Given the description of an element on the screen output the (x, y) to click on. 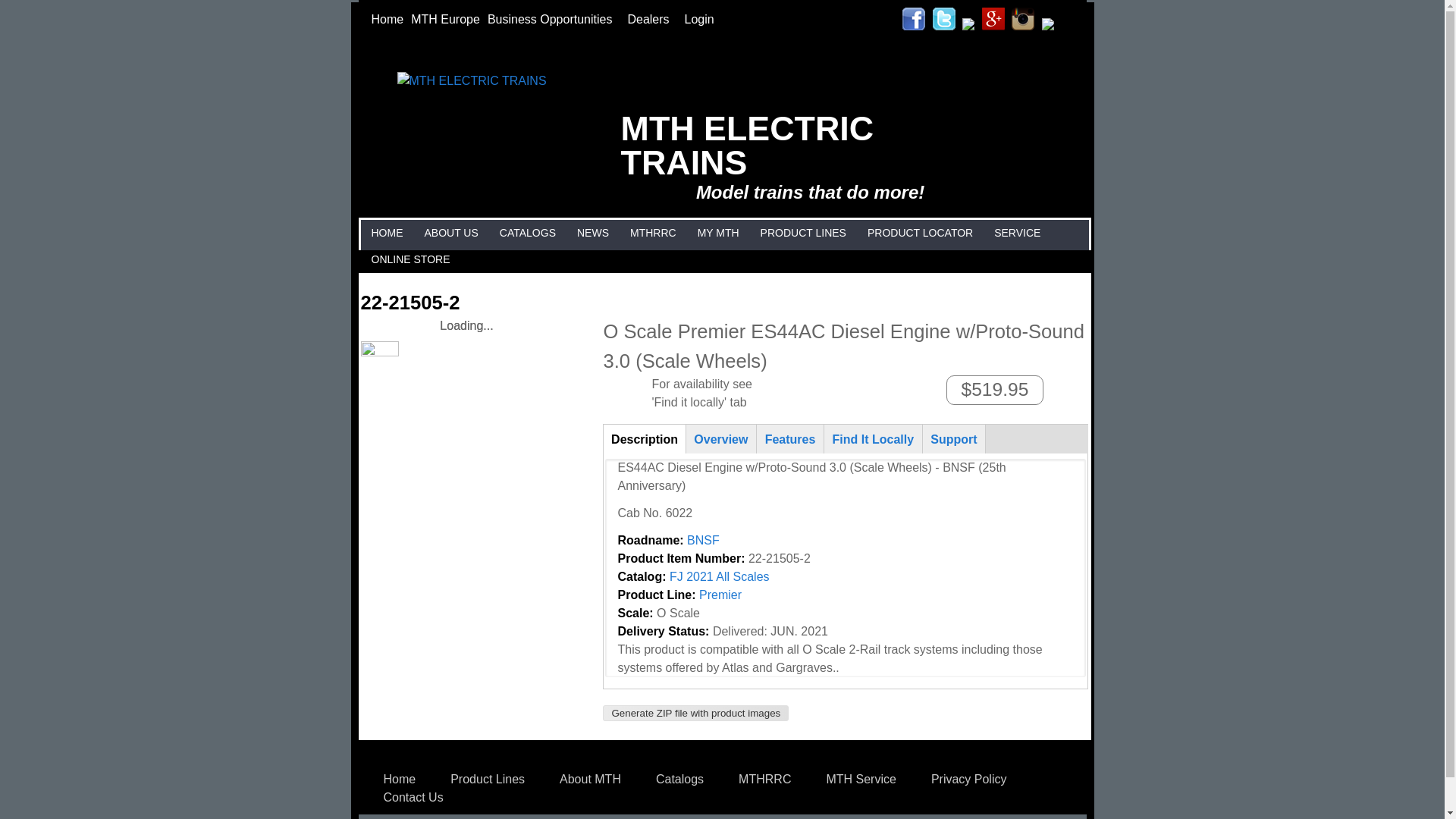
HOME (386, 233)
MTHRRC (652, 233)
MY MTH (718, 233)
Home (386, 19)
Overview (721, 438)
MTH ELECTRIC TRAINS (747, 144)
ONLINE STORE (409, 259)
CATALOGS (527, 233)
Business Opportunities (553, 19)
Home page (747, 144)
MTH ELECTRIC TRAINS (472, 80)
Features (789, 438)
ABOUT US (451, 233)
NEWS (593, 233)
